Given the description of an element on the screen output the (x, y) to click on. 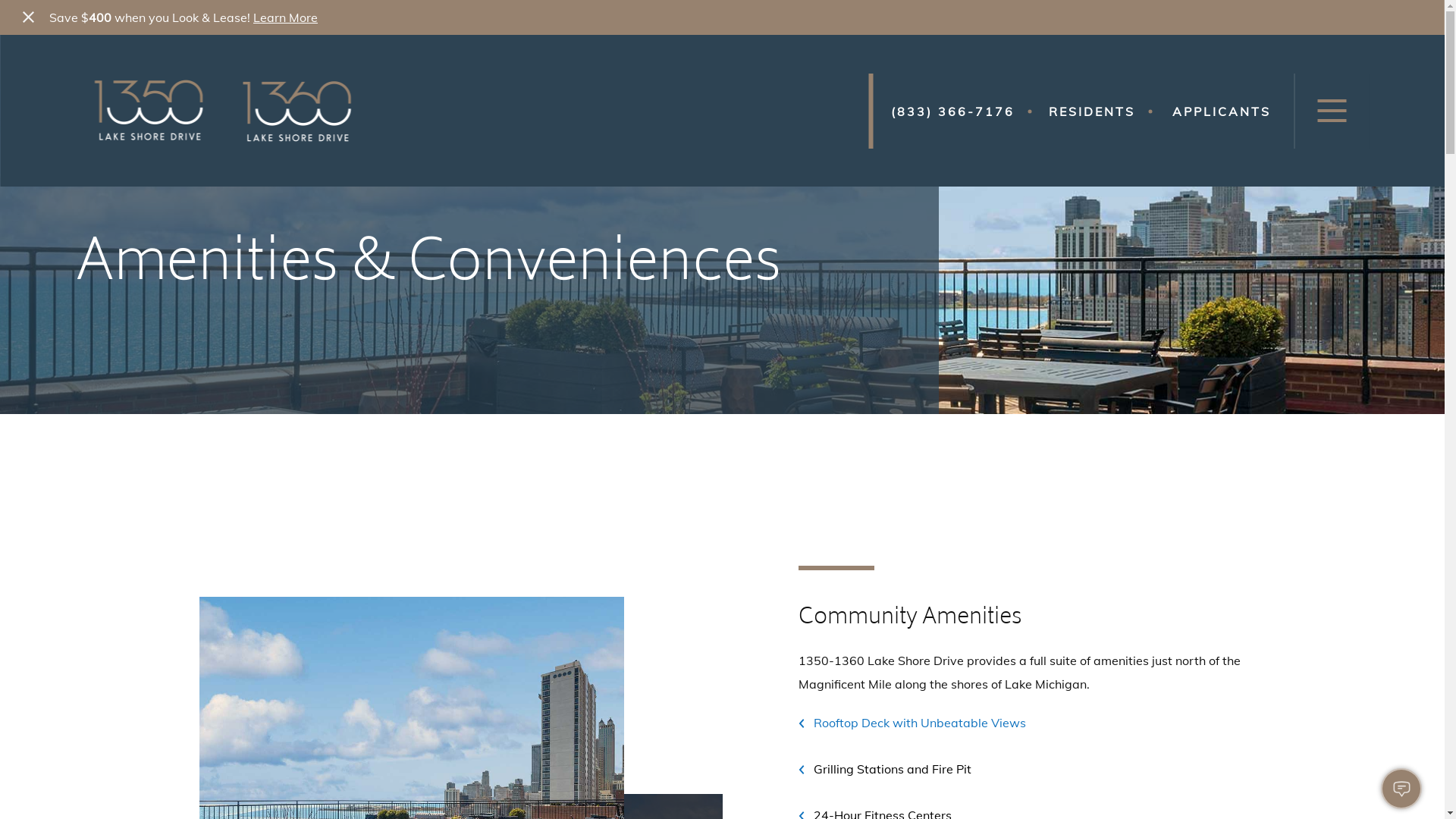
Skip to content Element type: text (75, 110)
Learn More Element type: text (285, 17)
APPLICANTS Element type: text (1221, 110)
Grilling Stations and Fire Pit Element type: text (883, 769)
(833) 366-7176 Element type: text (952, 110)
Close Element type: text (28, 17)
Rooftop Deck with Unbeatable Views Element type: text (911, 722)
Logo Element type: text (227, 110)
Menu Element type: text (1331, 110)
live webchat Element type: hover (1400, 788)
RESIDENTS Element type: text (1091, 110)
